Given the description of an element on the screen output the (x, y) to click on. 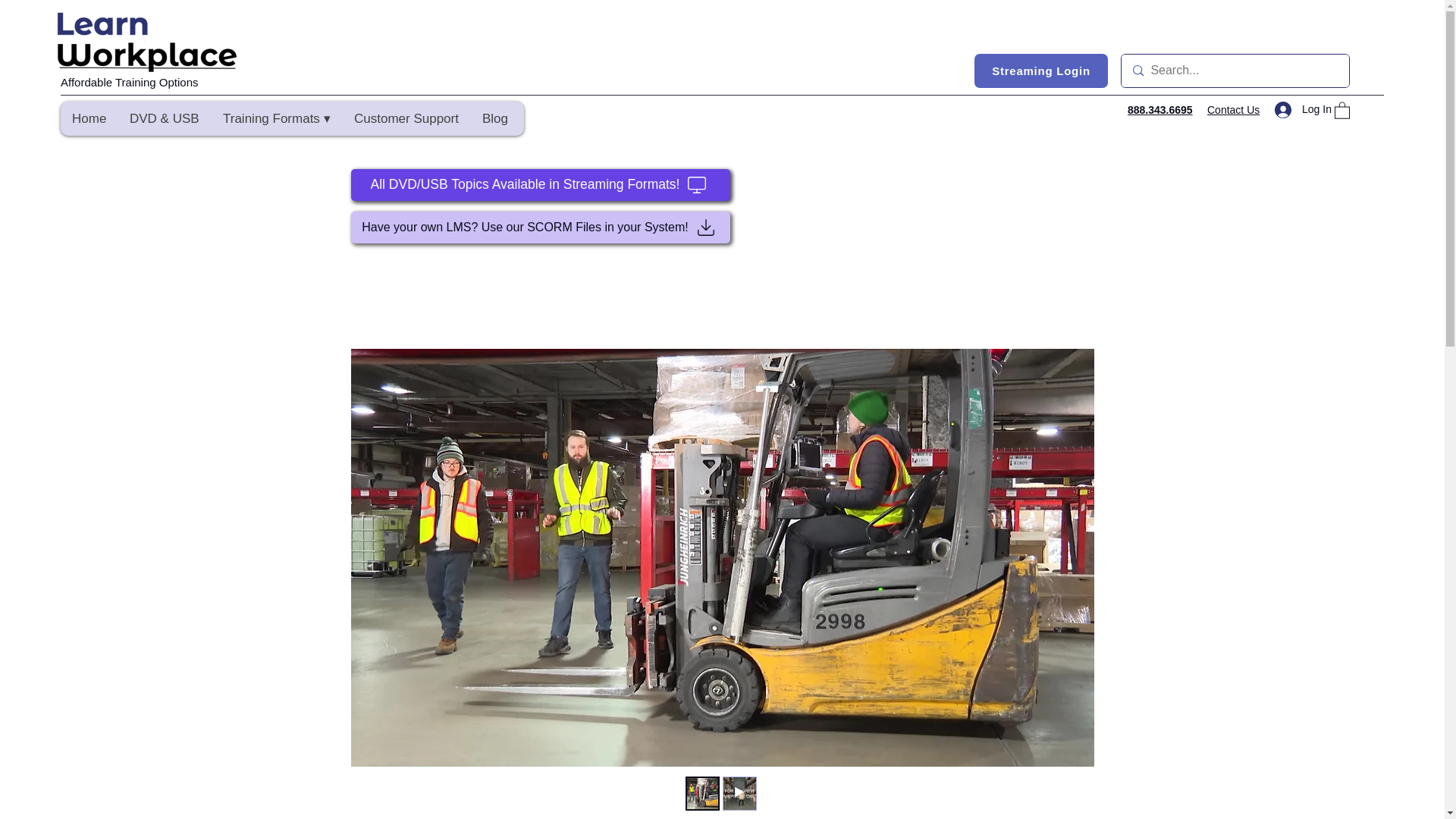
Have your own LMS? Use our SCORM Files in your System! (539, 227)
888.343.6695 (1159, 110)
Log In (1297, 109)
Customer Support (406, 118)
Contact Us (1233, 110)
Blog (494, 118)
Home (89, 118)
Streaming Login (1041, 70)
